Given the description of an element on the screen output the (x, y) to click on. 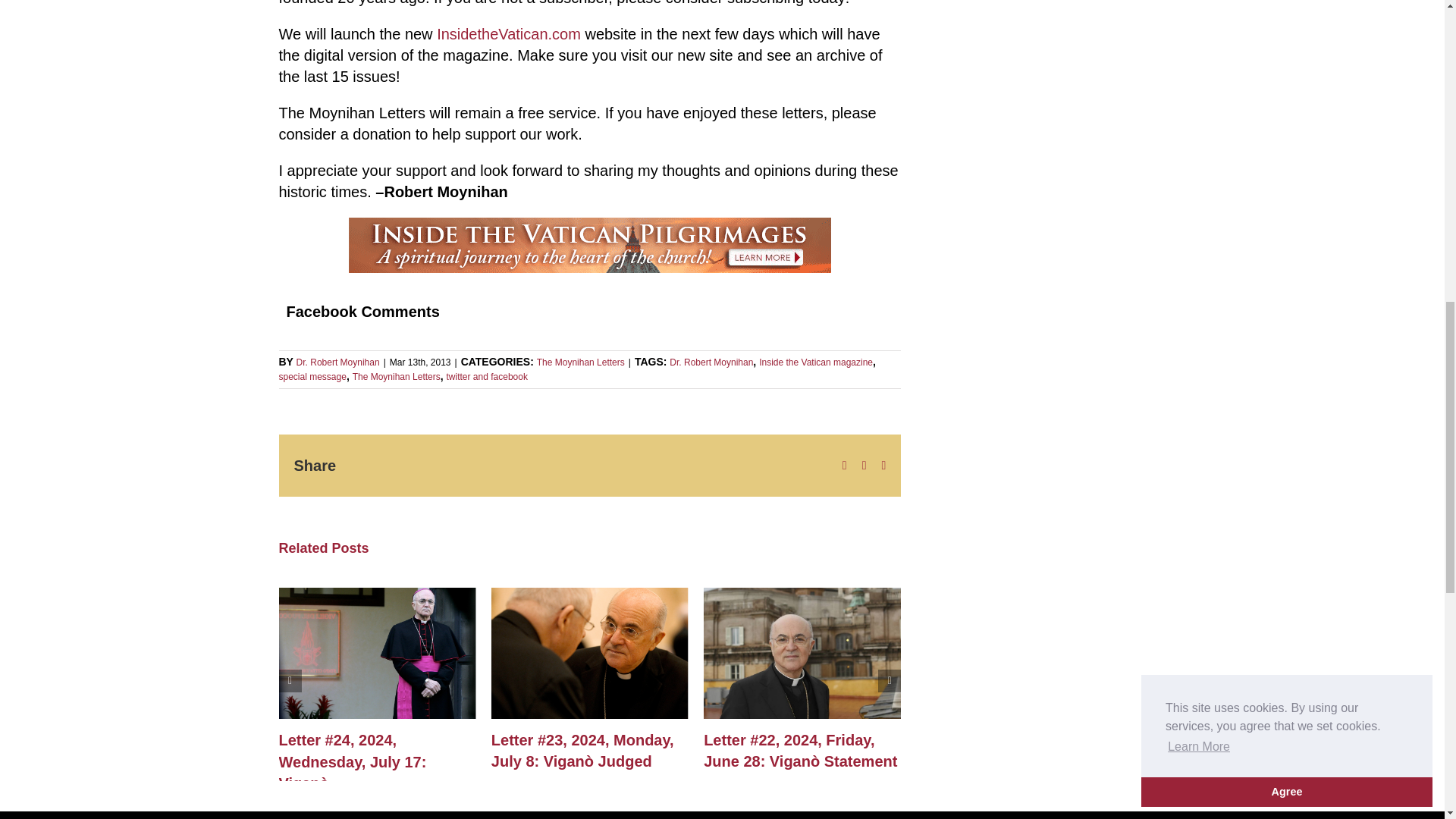
Posts by Dr. Robert Moynihan (338, 362)
